Given the description of an element on the screen output the (x, y) to click on. 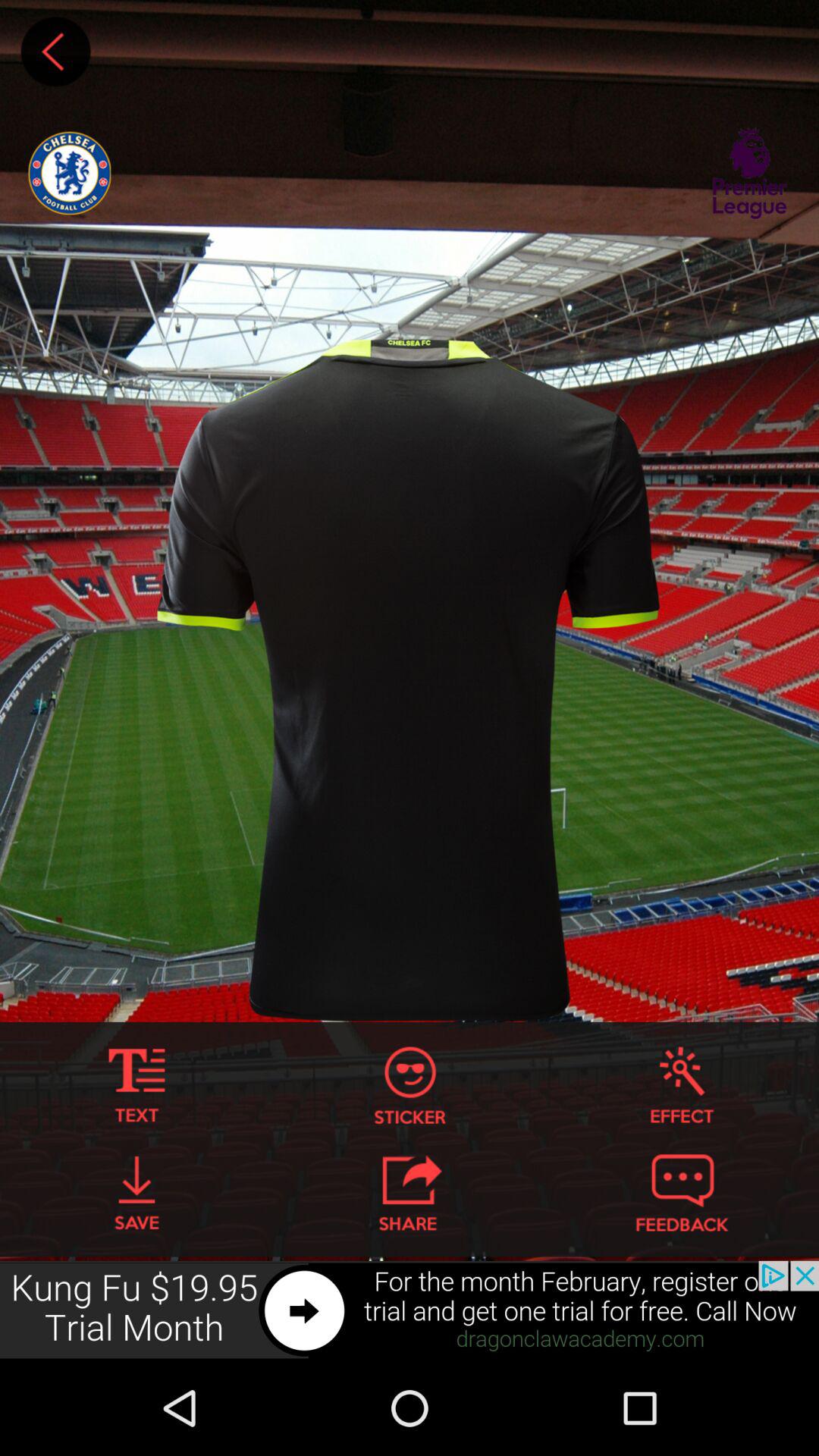
add text to shirt (136, 1085)
